Given the description of an element on the screen output the (x, y) to click on. 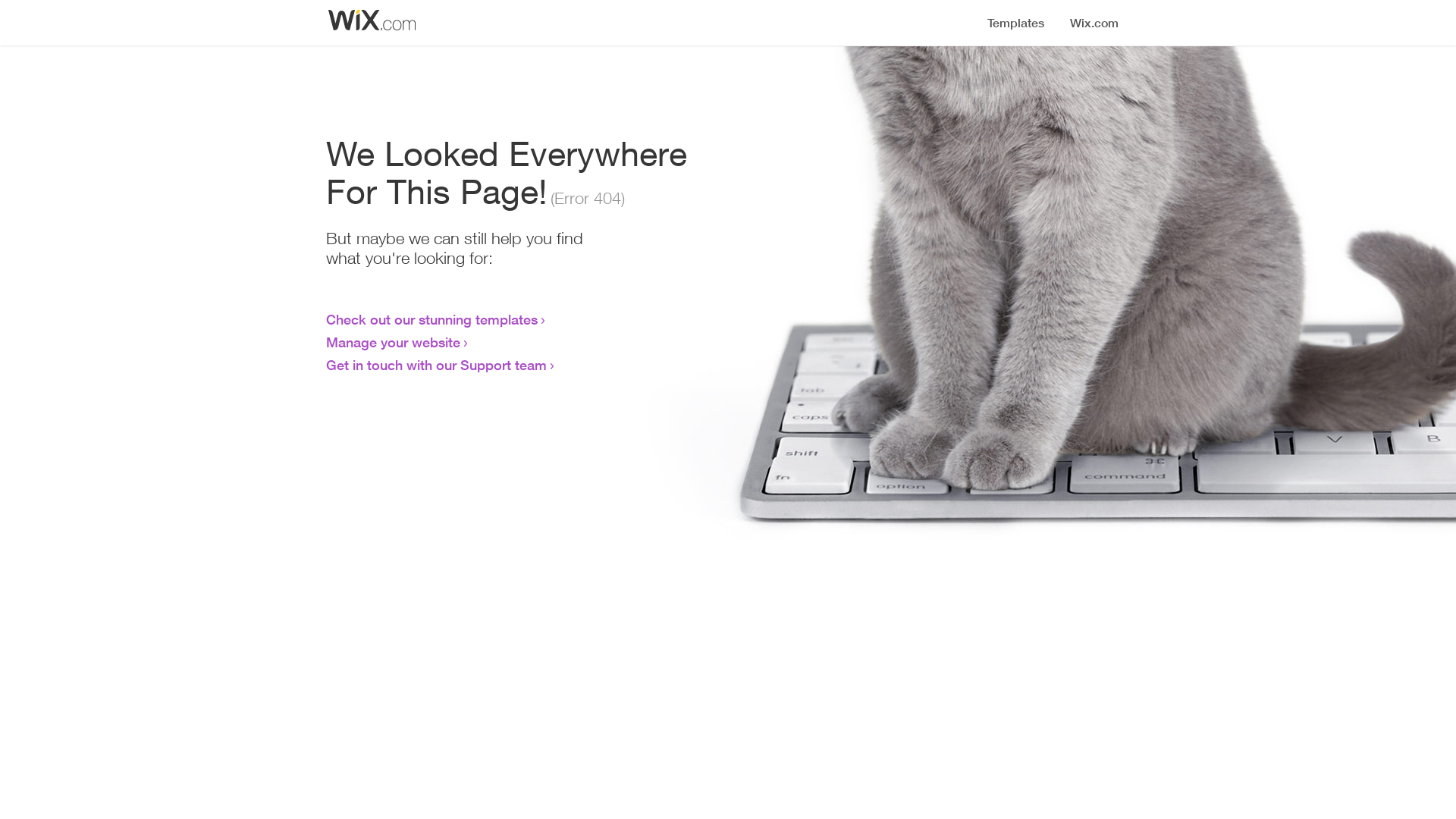
Check out our stunning templates Element type: text (431, 318)
Get in touch with our Support team Element type: text (436, 364)
Manage your website Element type: text (393, 341)
